Given the description of an element on the screen output the (x, y) to click on. 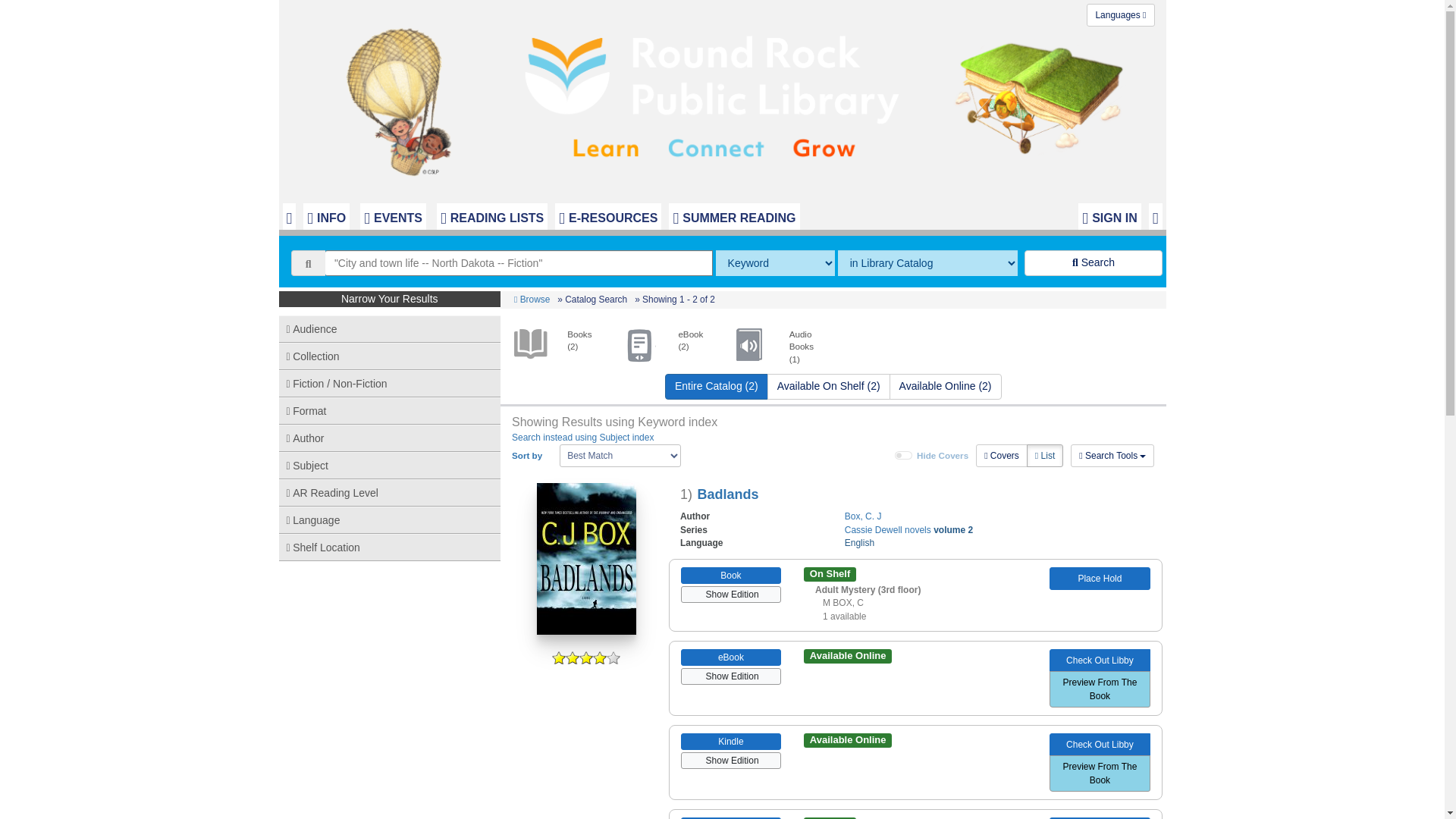
Login (1109, 216)
"City and town life -- North Dakota -- Fiction" (518, 263)
INFO (325, 216)
SUMMER READING (733, 216)
 Search (1093, 263)
READING LISTS (491, 216)
on (903, 455)
E-RESOURCES (607, 216)
Browse (531, 299)
SIGN IN (1109, 216)
EVENTS (392, 216)
Languages  (1120, 15)
